Given the description of an element on the screen output the (x, y) to click on. 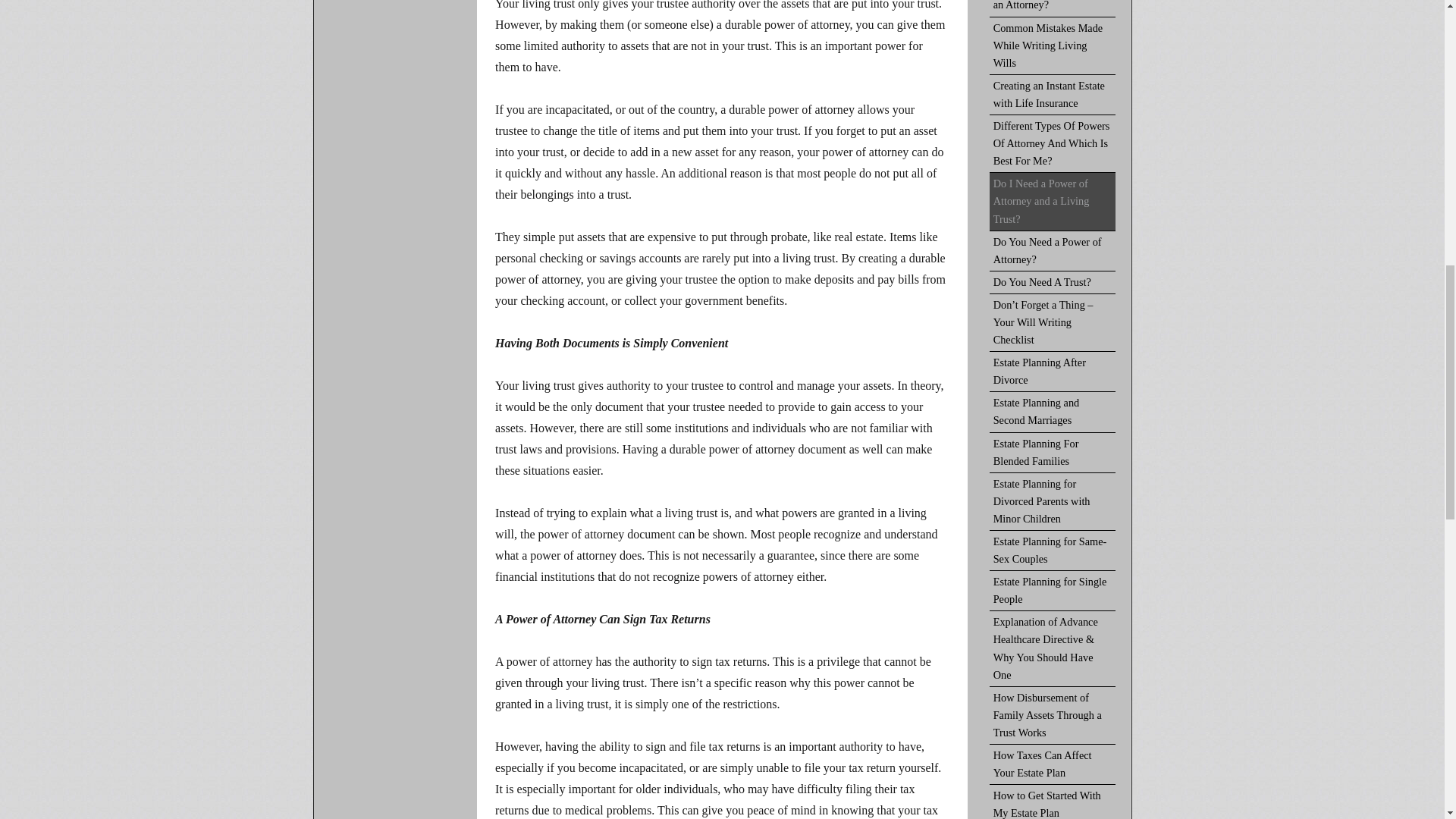
Estate Planning For Blended Families (1053, 453)
Estate Planning for Single People (1053, 590)
Estate Planning for Divorced Parents with Minor Children (1053, 501)
How to Get Started With My Estate Plan (1053, 801)
Do You Need A Trust? (1053, 282)
Do You Need a Power of Attorney? (1053, 250)
Do I Need a Power of Attorney and a Living Trust? (1053, 201)
Common Mistakes Made While Writing Living Wills (1053, 46)
Estate Planning After Divorce (1053, 372)
How Disbursement of Family Assets Through a Trust Works (1053, 715)
Estate Planning for Same-Sex Couples (1053, 550)
How Taxes Can Affect Your Estate Plan (1053, 764)
Estate Planning and Second Marriages (1053, 412)
